Given the description of an element on the screen output the (x, y) to click on. 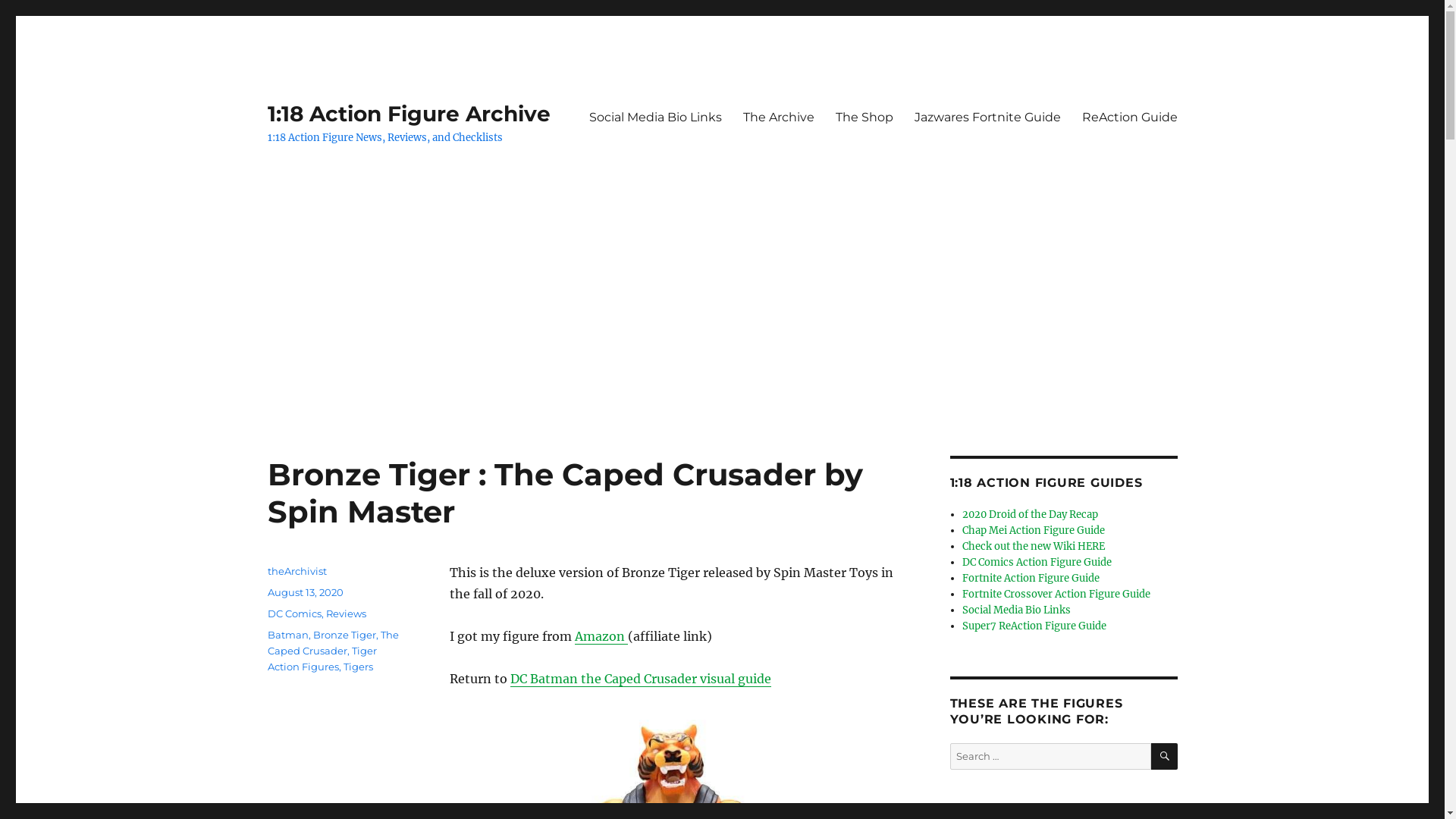
Advertisement Element type: hover (721, 343)
The Shop Element type: text (864, 116)
Fortnite Crossover Action Figure Guide Element type: text (1056, 593)
The Caped Crusader Element type: text (332, 642)
Amazon Element type: text (600, 635)
2020 Droid of the Day Recap Element type: text (1030, 514)
Reviews Element type: text (346, 613)
The Archive Element type: text (778, 116)
Fortnite Action Figure Guide Element type: text (1030, 577)
Tigers Element type: text (357, 666)
Check out the new Wiki HERE Element type: text (1033, 545)
SEARCH Element type: text (1164, 756)
Tiger Action Figures Element type: text (321, 658)
Social Media Bio Links Element type: text (654, 116)
ReAction Guide Element type: text (1128, 116)
August 13, 2020 Element type: text (304, 592)
Chap Mei Action Figure Guide Element type: text (1033, 530)
Jazwares Fortnite Guide Element type: text (987, 116)
DC Batman the Caped Crusader visual guide Element type: text (639, 678)
DC Comics Element type: text (293, 613)
Batman Element type: text (286, 634)
1:18 Action Figure Archive Element type: text (407, 113)
Social Media Bio Links Element type: text (1016, 609)
theArchivist Element type: text (296, 570)
Super7 ReAction Figure Guide Element type: text (1034, 625)
DC Comics Action Figure Guide Element type: text (1036, 561)
Bronze Tiger Element type: text (343, 634)
